Given the description of an element on the screen output the (x, y) to click on. 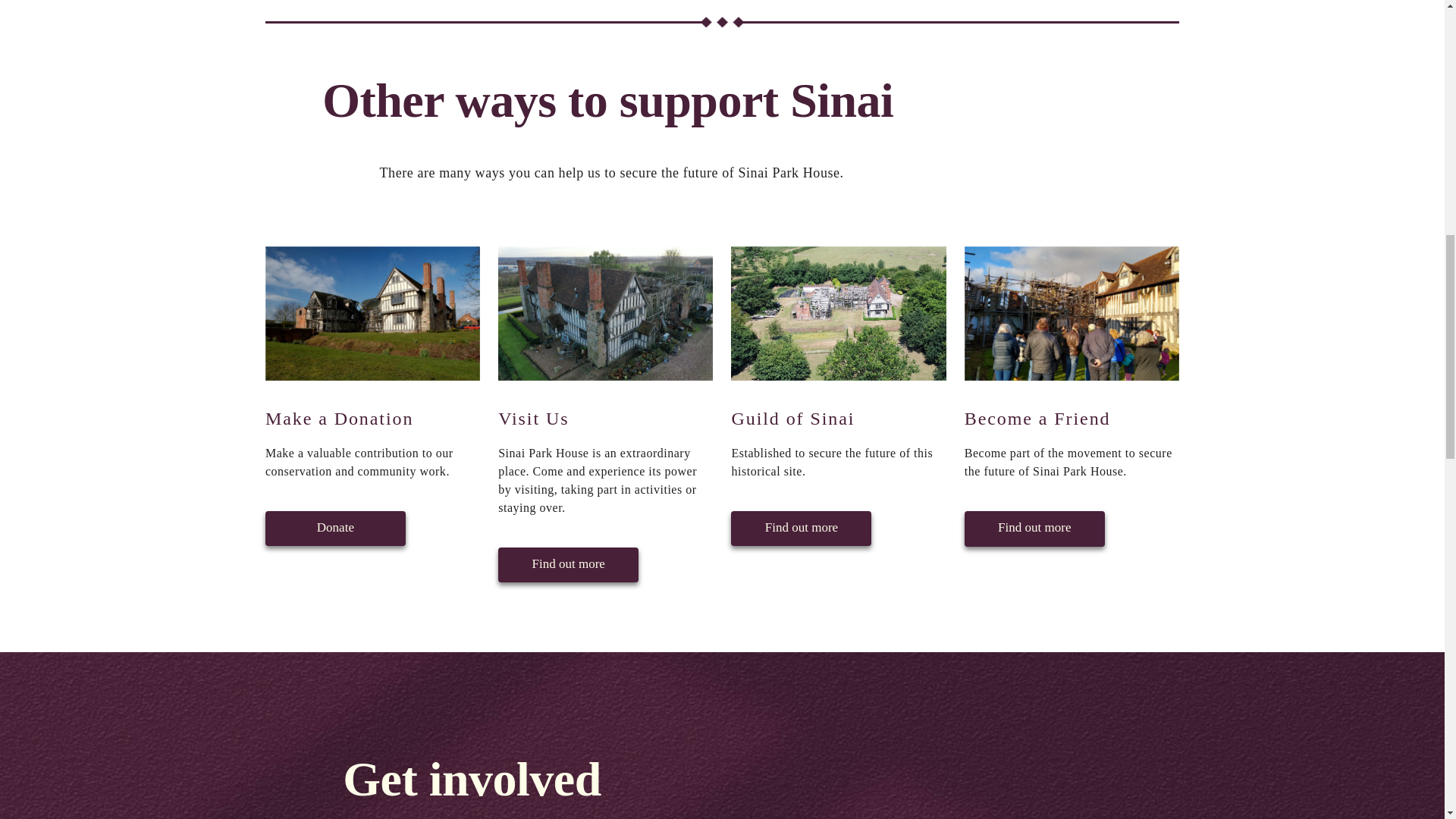
Find out more (568, 563)
Find out more (568, 564)
Find out more (1034, 528)
Donate (335, 528)
Find out more (1034, 527)
Donate (335, 527)
Find out more (800, 527)
Find out more (800, 528)
